Given the description of an element on the screen output the (x, y) to click on. 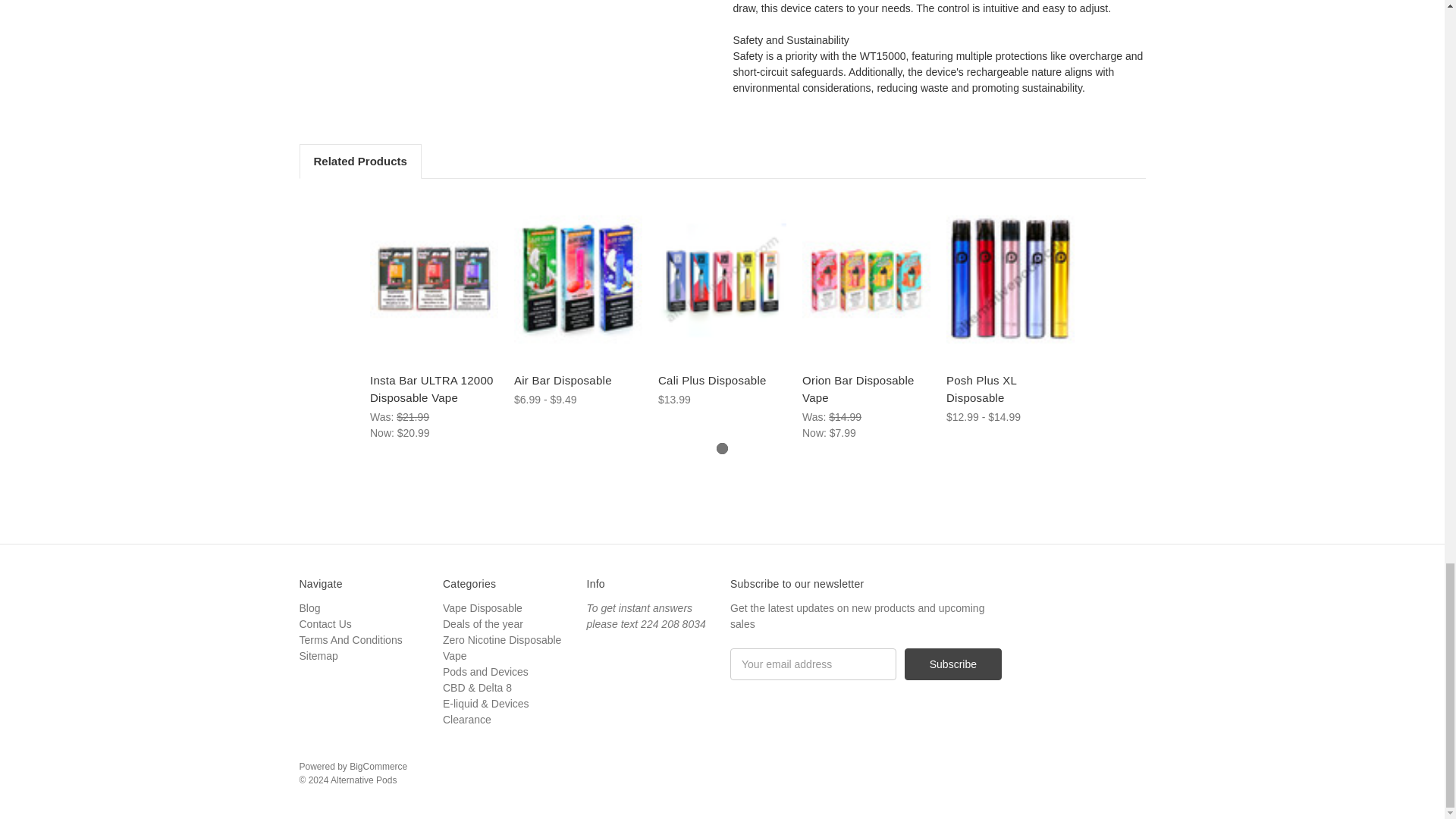
Orion Bar Disposable Vape (866, 279)
Subscribe (952, 664)
Cali plus (722, 279)
Posh XL Vape (1010, 279)
InstaBar ULTRA vape (433, 279)
Related Products (359, 161)
Buy air bar near me (577, 279)
